Given the description of an element on the screen output the (x, y) to click on. 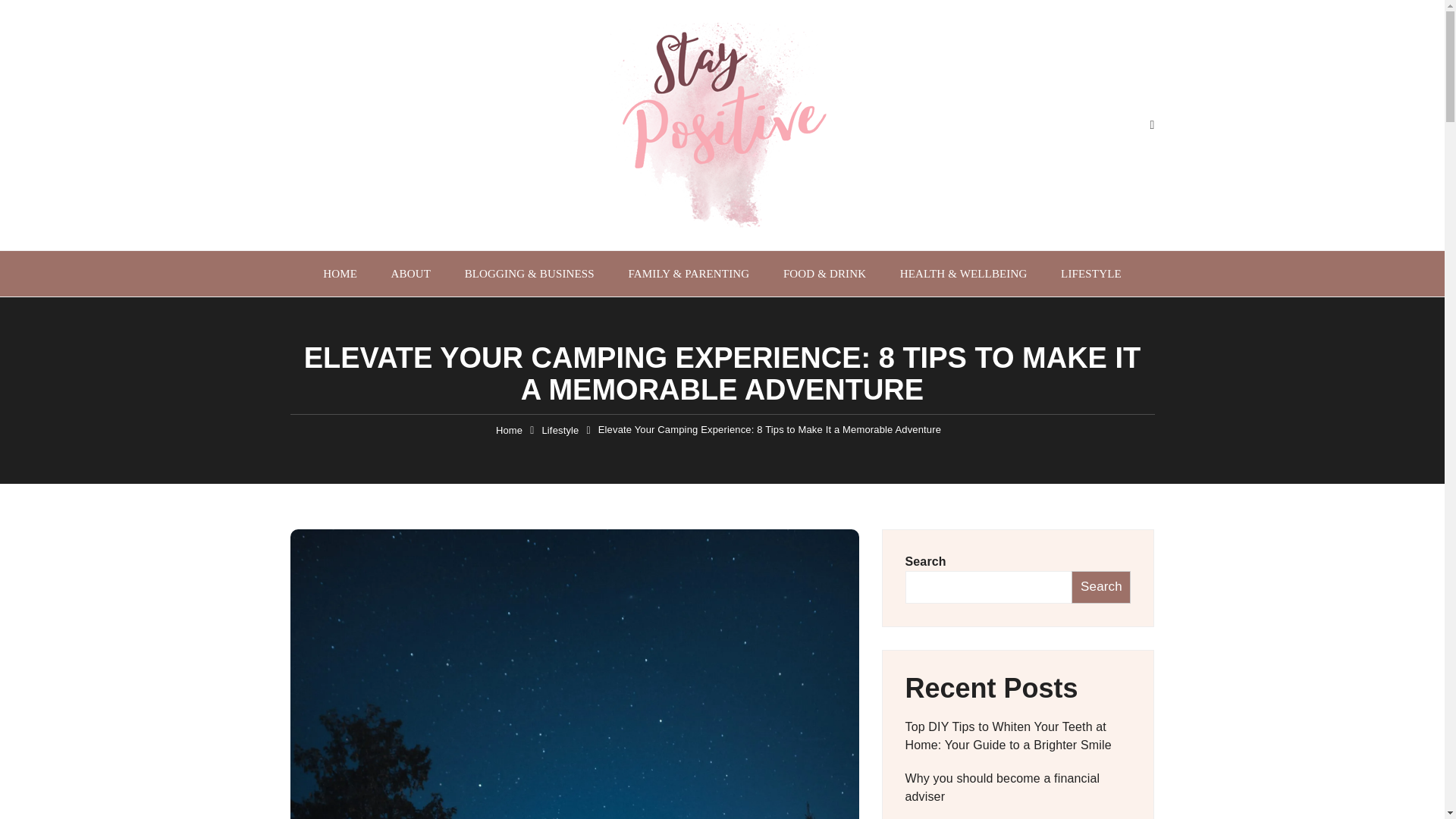
LIFESTYLE (1091, 273)
Home (509, 430)
HOME (339, 273)
ABOUT (410, 273)
Lifestyle (559, 430)
